Given the description of an element on the screen output the (x, y) to click on. 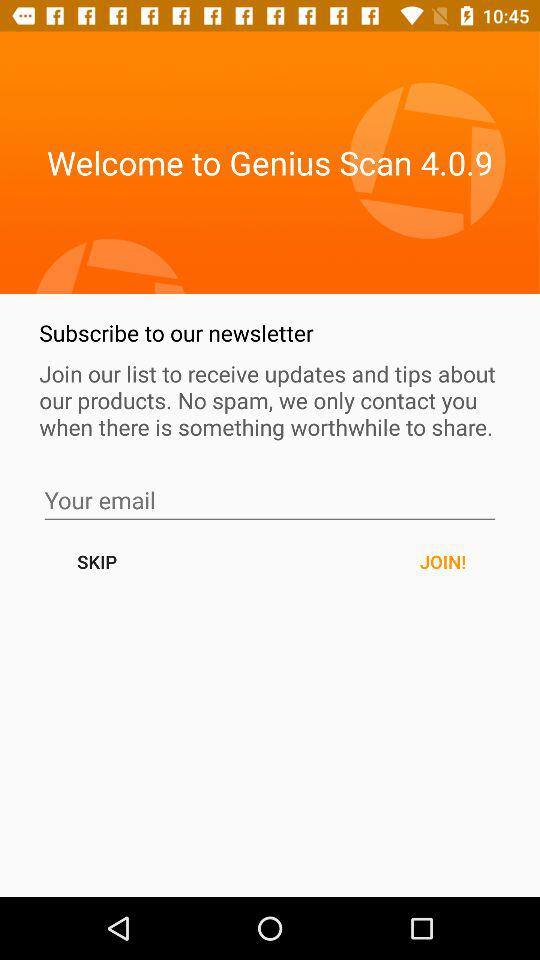
click the join! button (442, 561)
